Given the description of an element on the screen output the (x, y) to click on. 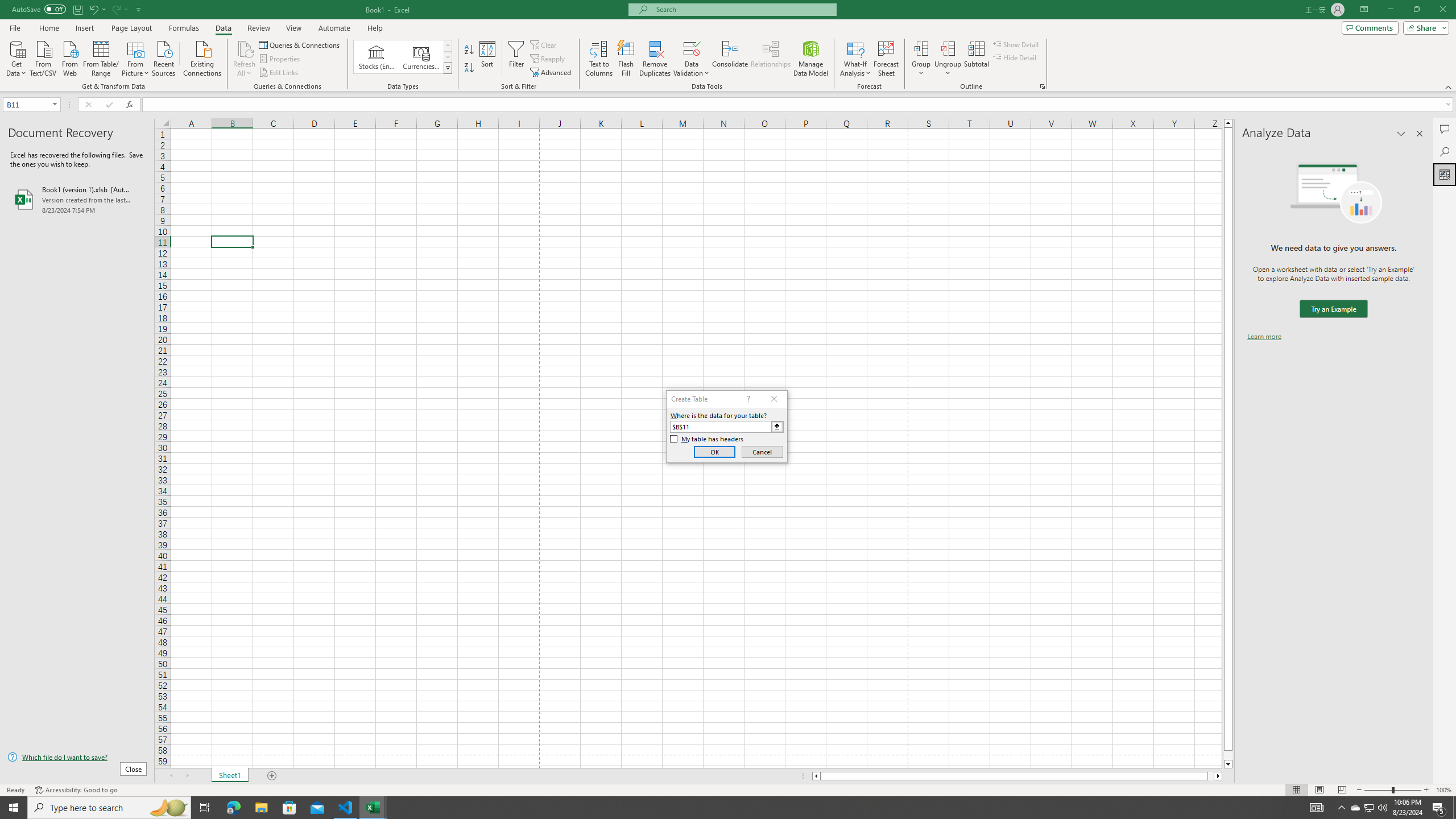
Data Validation... (691, 48)
Formula Bar (799, 104)
Refresh All (244, 48)
Class: MsoCommandBar (728, 45)
Currencies (English) (420, 56)
Zoom (1392, 790)
From Table/Range (100, 57)
Line up (1228, 122)
Scroll Right (187, 775)
Row Down (448, 56)
Queries & Connections (300, 44)
AutoSave (38, 9)
Help (374, 28)
Group and Outline Settings (1042, 85)
